Given the description of an element on the screen output the (x, y) to click on. 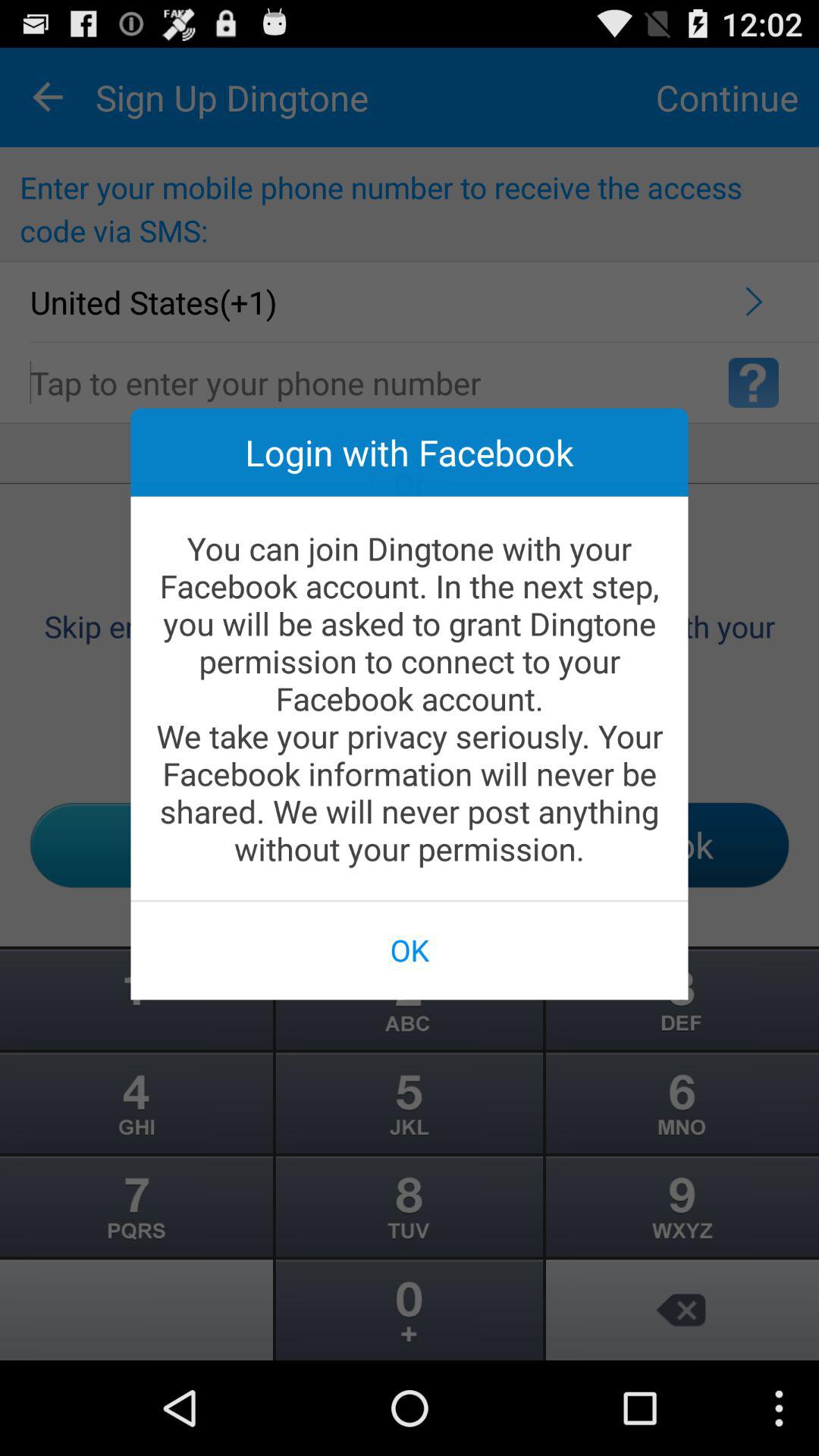
open the item below the you can join icon (409, 949)
